Given the description of an element on the screen output the (x, y) to click on. 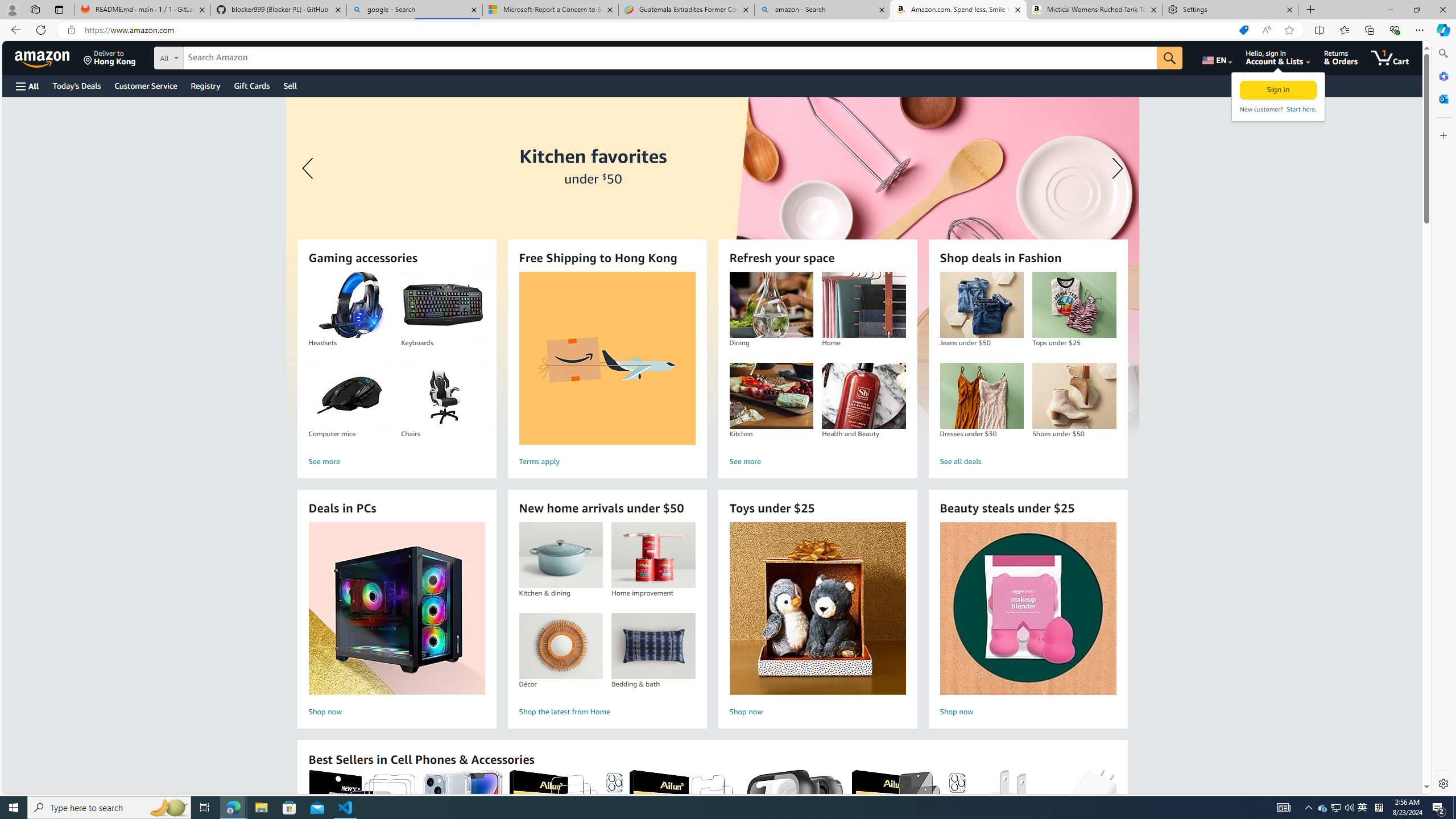
Amazon (43, 57)
Skip to main content (48, 56)
Tops under $25 (1074, 304)
Kitchen (770, 395)
Chairs (443, 395)
Sell (290, 85)
View site information (70, 29)
Workspaces (34, 9)
Beauty steals under $25 (1027, 608)
Dining (771, 304)
Add this page to favorites (Ctrl+D) (1289, 29)
Open Menu (26, 86)
Dresses under $30 (981, 395)
